Given the description of an element on the screen output the (x, y) to click on. 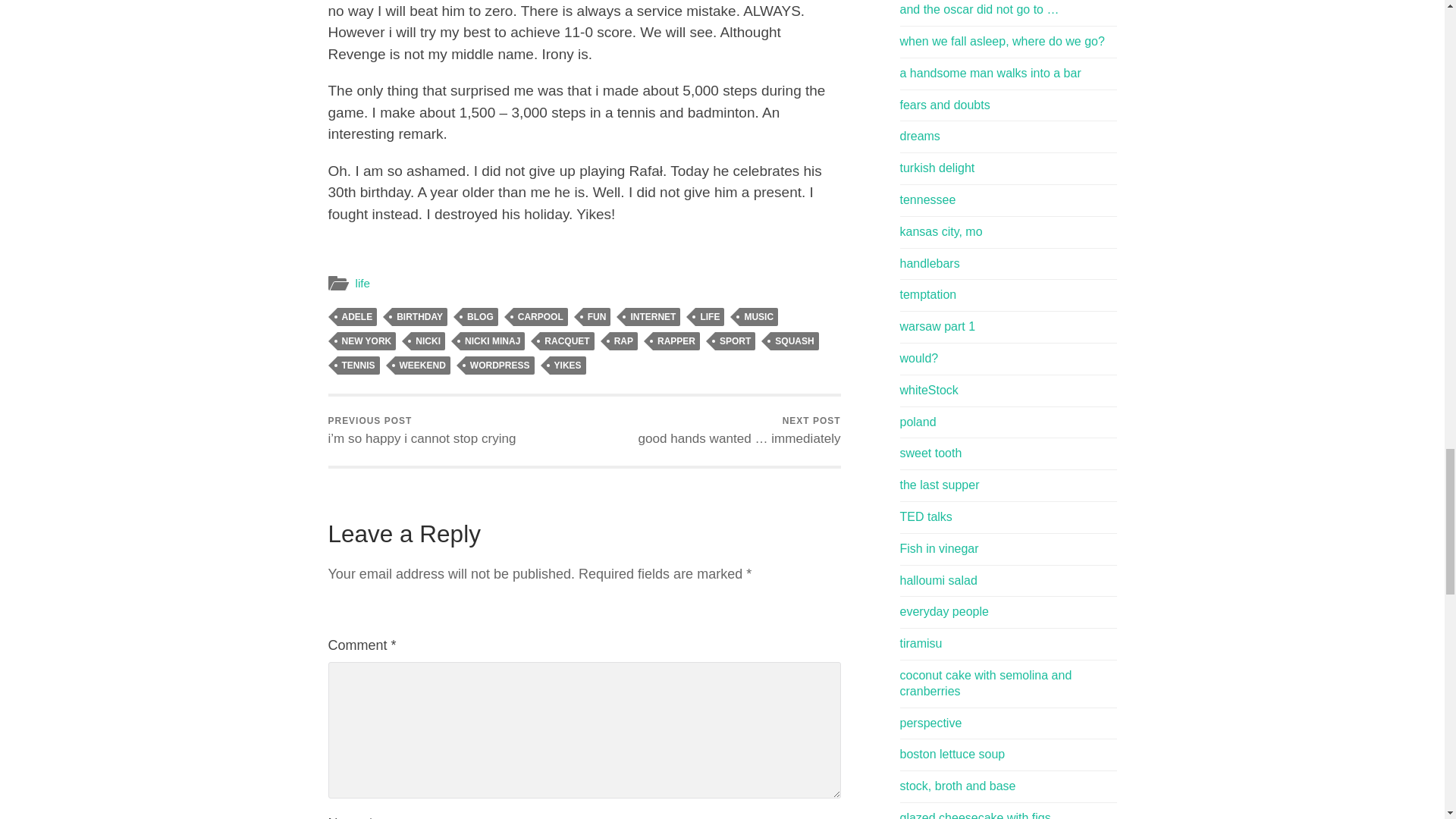
LIFE (709, 316)
NICKI (427, 341)
ADELE (356, 316)
NICKI MINAJ (492, 341)
MUSIC (758, 316)
life (362, 282)
BIRTHDAY (418, 316)
RAP (623, 341)
CARPOOL (540, 316)
INTERNET (652, 316)
